Given the description of an element on the screen output the (x, y) to click on. 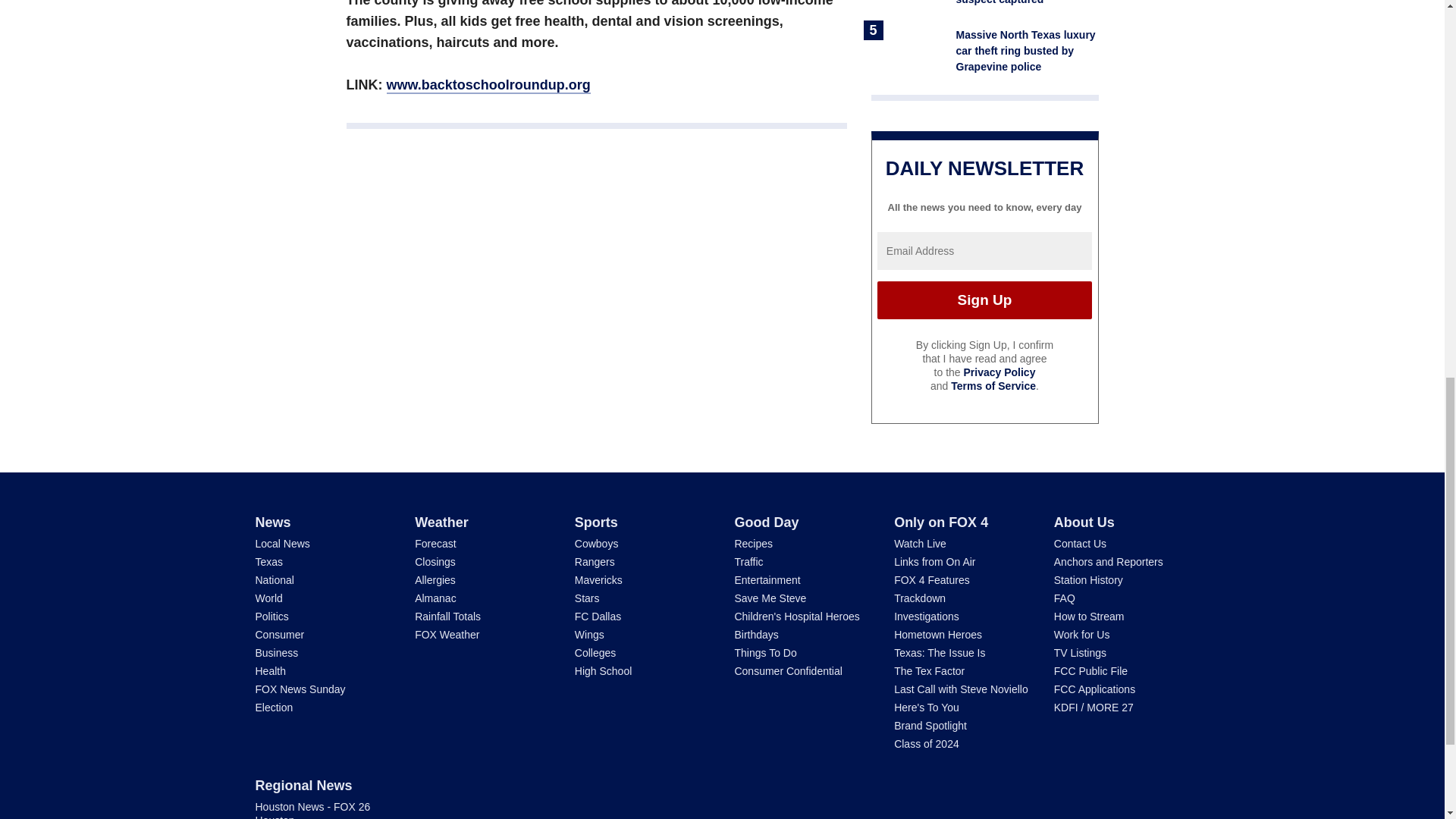
Sign Up (984, 300)
